Given the description of an element on the screen output the (x, y) to click on. 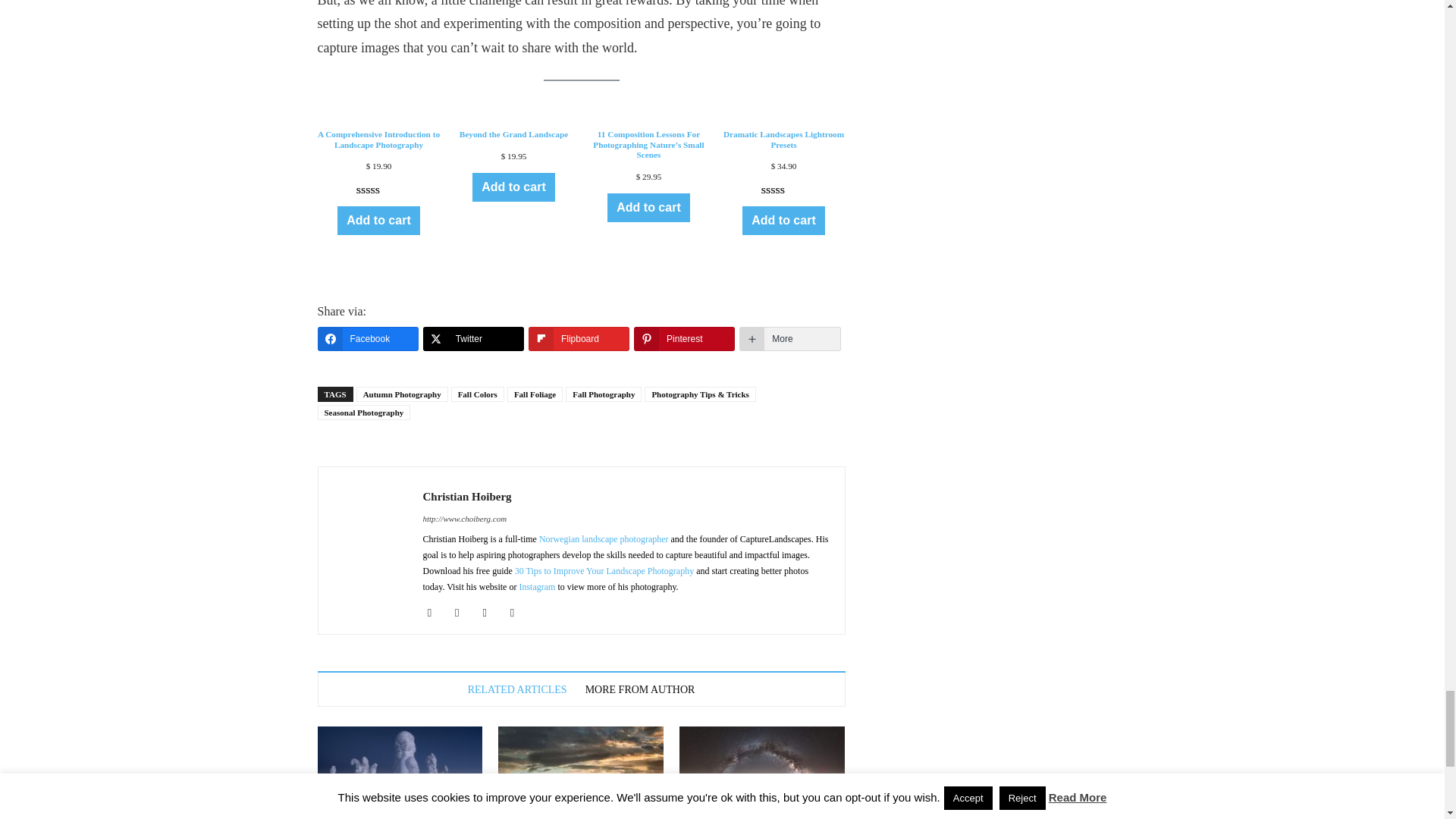
Twitter (518, 612)
Mail (489, 612)
Instagram (462, 612)
Facebook (435, 612)
bottomFacebookLike (430, 453)
